Given the description of an element on the screen output the (x, y) to click on. 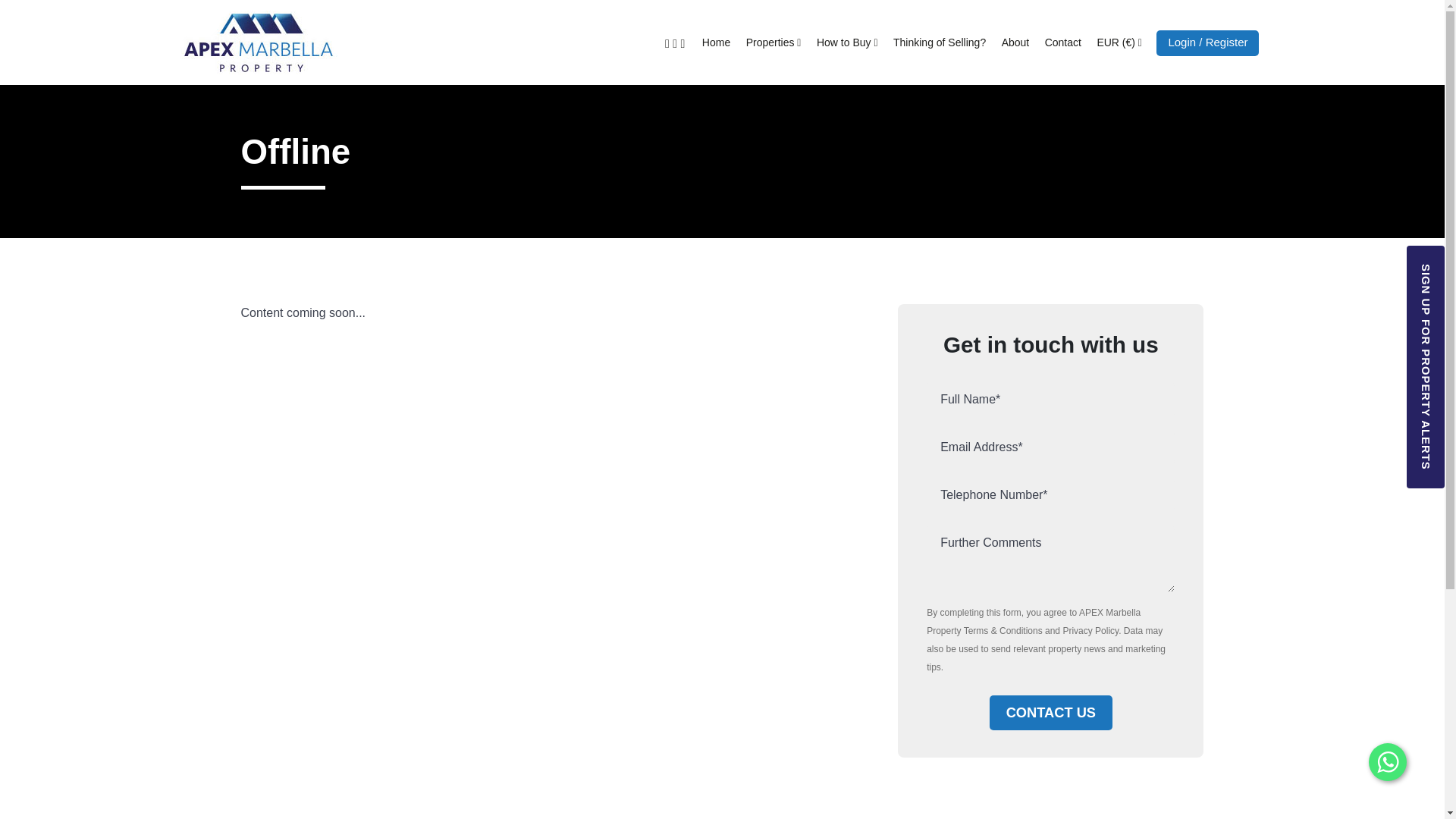
How to Buy (847, 41)
Contact (1062, 42)
CONTACT US (1051, 712)
About (1015, 42)
Privacy Policy (1090, 630)
Properties (773, 41)
Thinking of Selling? (939, 42)
Home (715, 42)
